Given the description of an element on the screen output the (x, y) to click on. 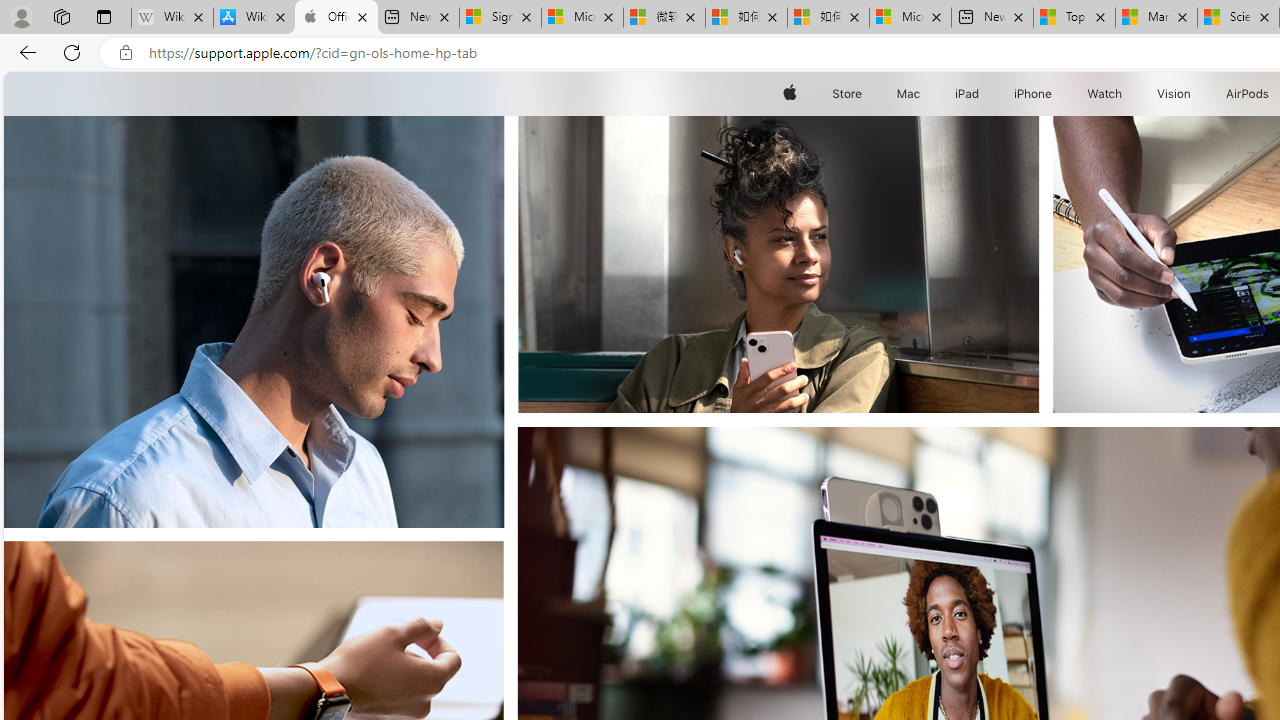
Vision menu (1195, 93)
iPad (965, 93)
iPhone (1033, 93)
Mac (908, 93)
AirPods (1247, 93)
AirPods (1247, 93)
Store (846, 93)
Apple (789, 93)
Store menu (864, 93)
Vision (1174, 93)
Mac (908, 93)
